Given the description of an element on the screen output the (x, y) to click on. 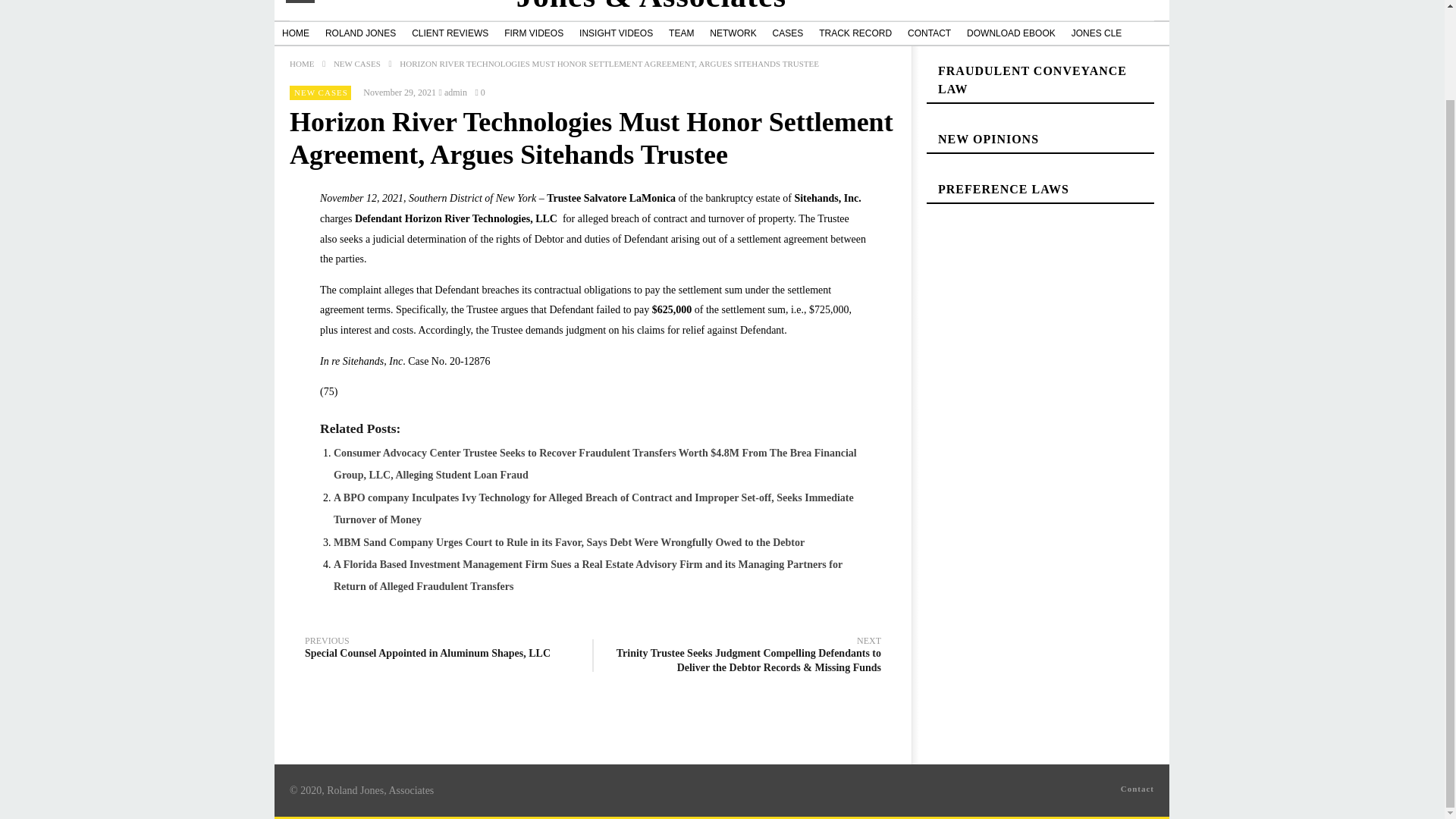
View all posts in New Cases (320, 92)
NEW CASES (356, 62)
ROLAND JONES (360, 32)
CASES (787, 32)
admin (454, 92)
DOWNLOAD EBOOK (1010, 32)
CONTACT (928, 32)
HOME (296, 32)
November 29, 2021 (398, 92)
FIRM VIDEOS (533, 32)
Posts by admin (454, 92)
JONES CLE (1096, 32)
HOME (1040, 145)
